Given the description of an element on the screen output the (x, y) to click on. 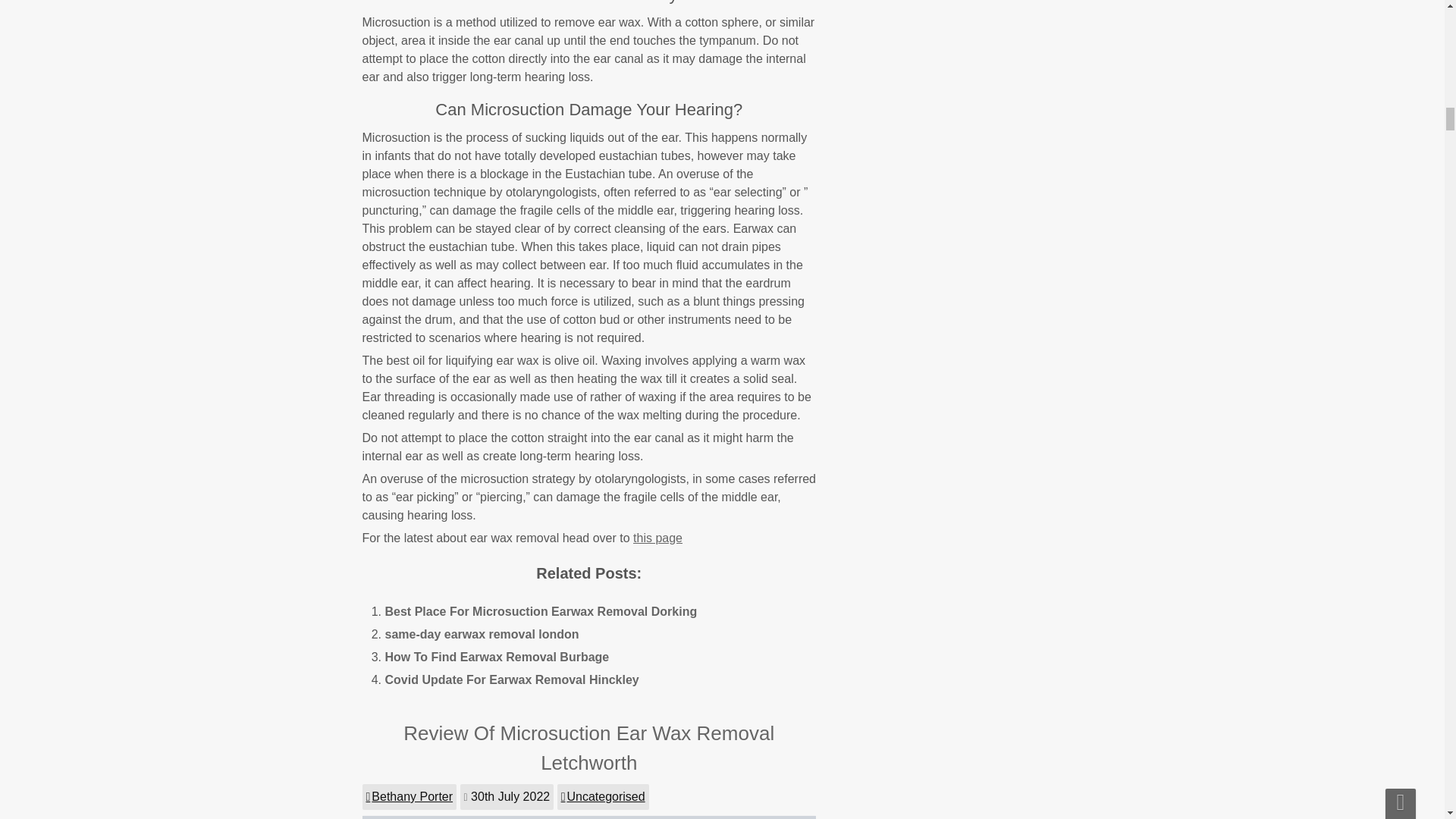
Review Of Microsuction Ear Wax Removal Letchworth (588, 747)
same-day earwax removal london (482, 634)
Uncategorised (603, 796)
Covid Update For Earwax Removal Hinckley (512, 679)
How To Find Earwax Removal Burbage (497, 656)
Best Place For Microsuction Earwax Removal Dorking (541, 611)
Bethany Porter (409, 796)
this page (657, 537)
